Given the description of an element on the screen output the (x, y) to click on. 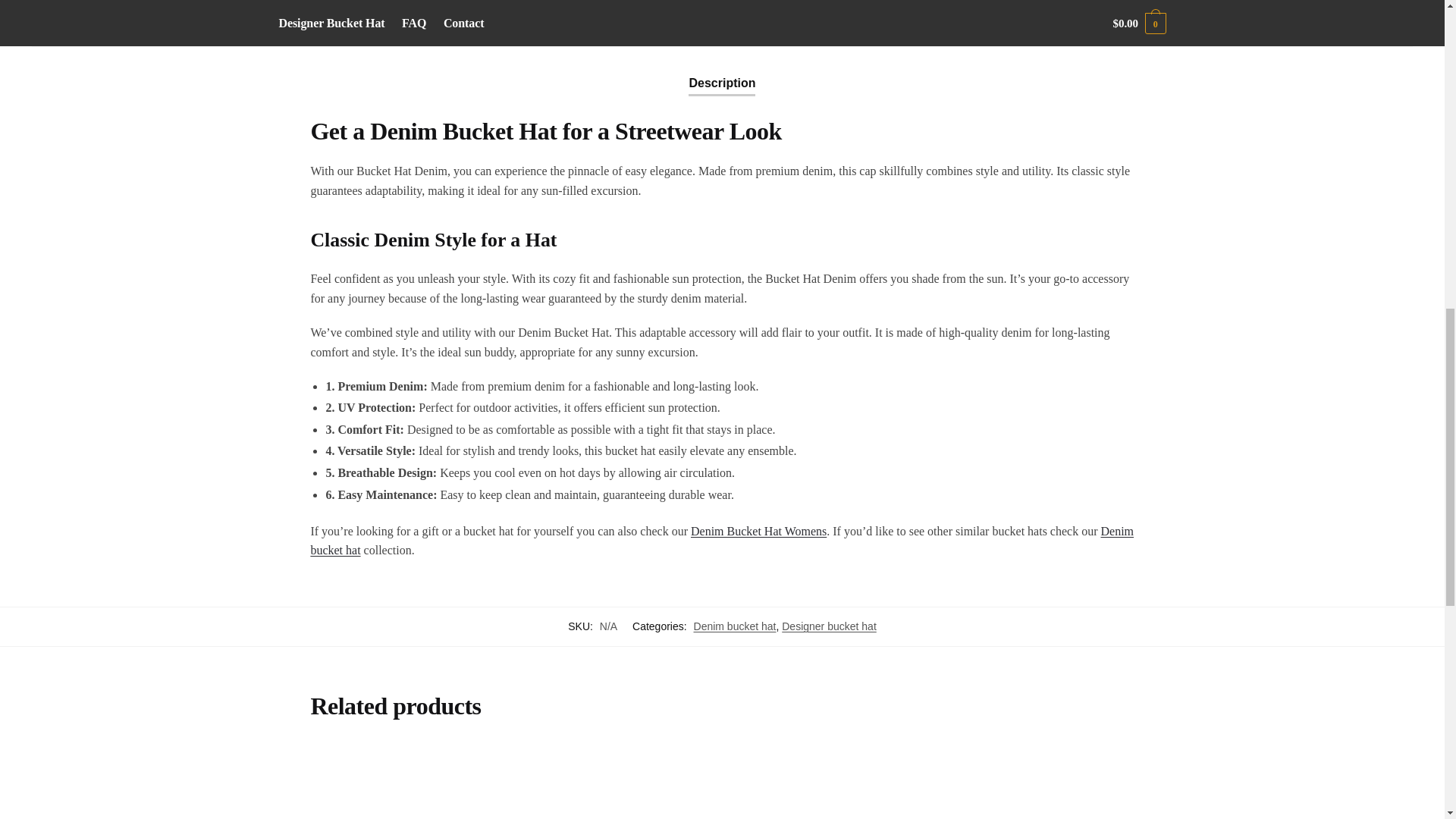
Blue Denim Bucket Hat (404, 782)
90s Denim Bucket Hat (615, 782)
Grey Denim Bucket Hat (828, 782)
Baby Denim Bucket Hat (1039, 782)
Denim bucket hat (722, 540)
Denim bucket hat (735, 625)
Description (721, 70)
Designer bucket hat (828, 625)
Denim Bucket Hat Womens (758, 530)
